Given the description of an element on the screen output the (x, y) to click on. 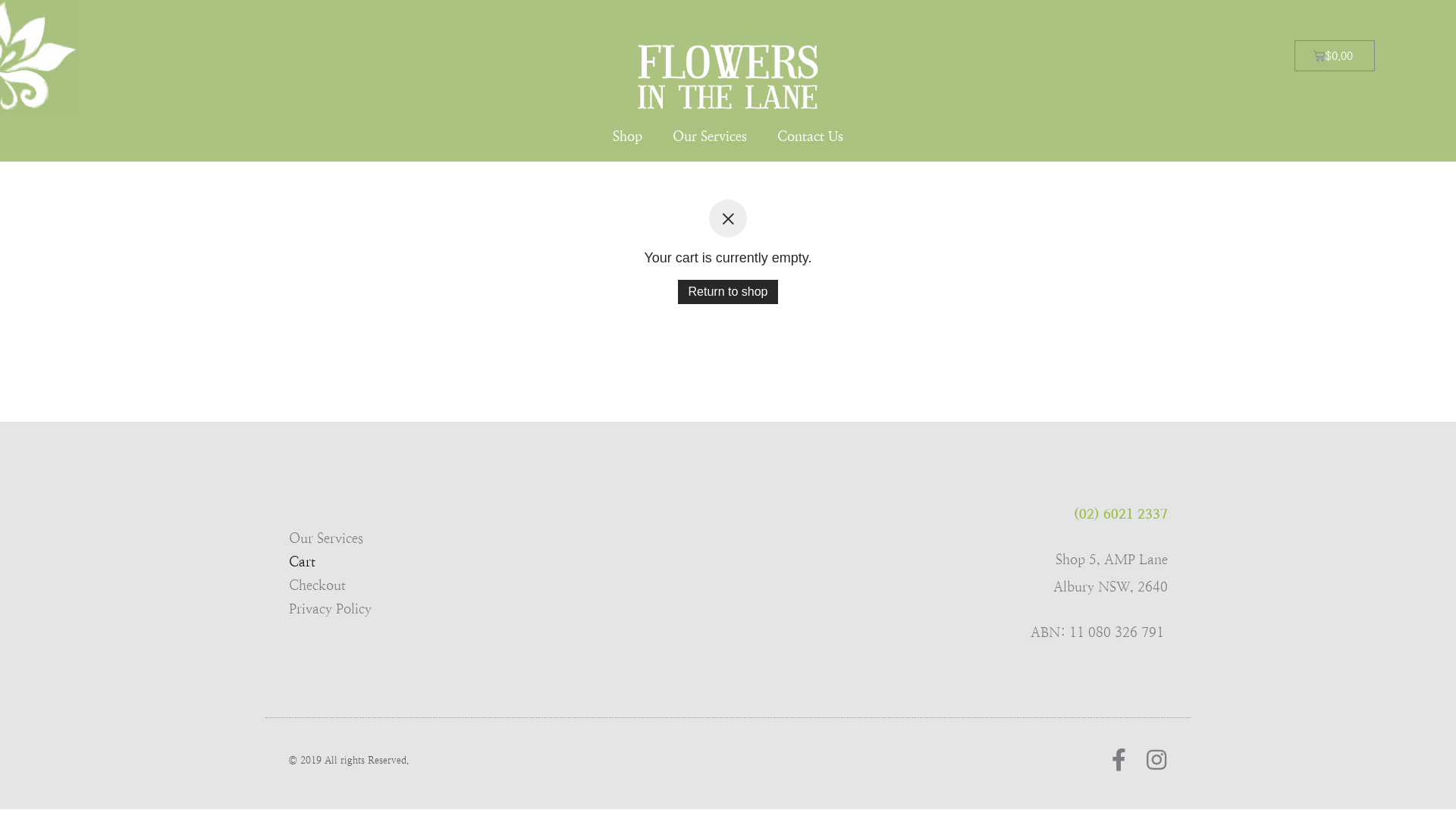
Privacy Policy Element type: text (392, 608)
Our Services Element type: text (709, 136)
Return to shop Element type: text (727, 291)
Checkout Element type: text (392, 585)
shop 5, amp lane, albury nsw 2640 Element type: hover (727, 573)
$0.00 Element type: text (1334, 55)
Shop Element type: text (627, 136)
Contact Us Element type: text (810, 136)
Our Services Element type: text (392, 538)
Cart Element type: text (392, 561)
(02) 6021 2337 Element type: text (1120, 513)
